Given the description of an element on the screen output the (x, y) to click on. 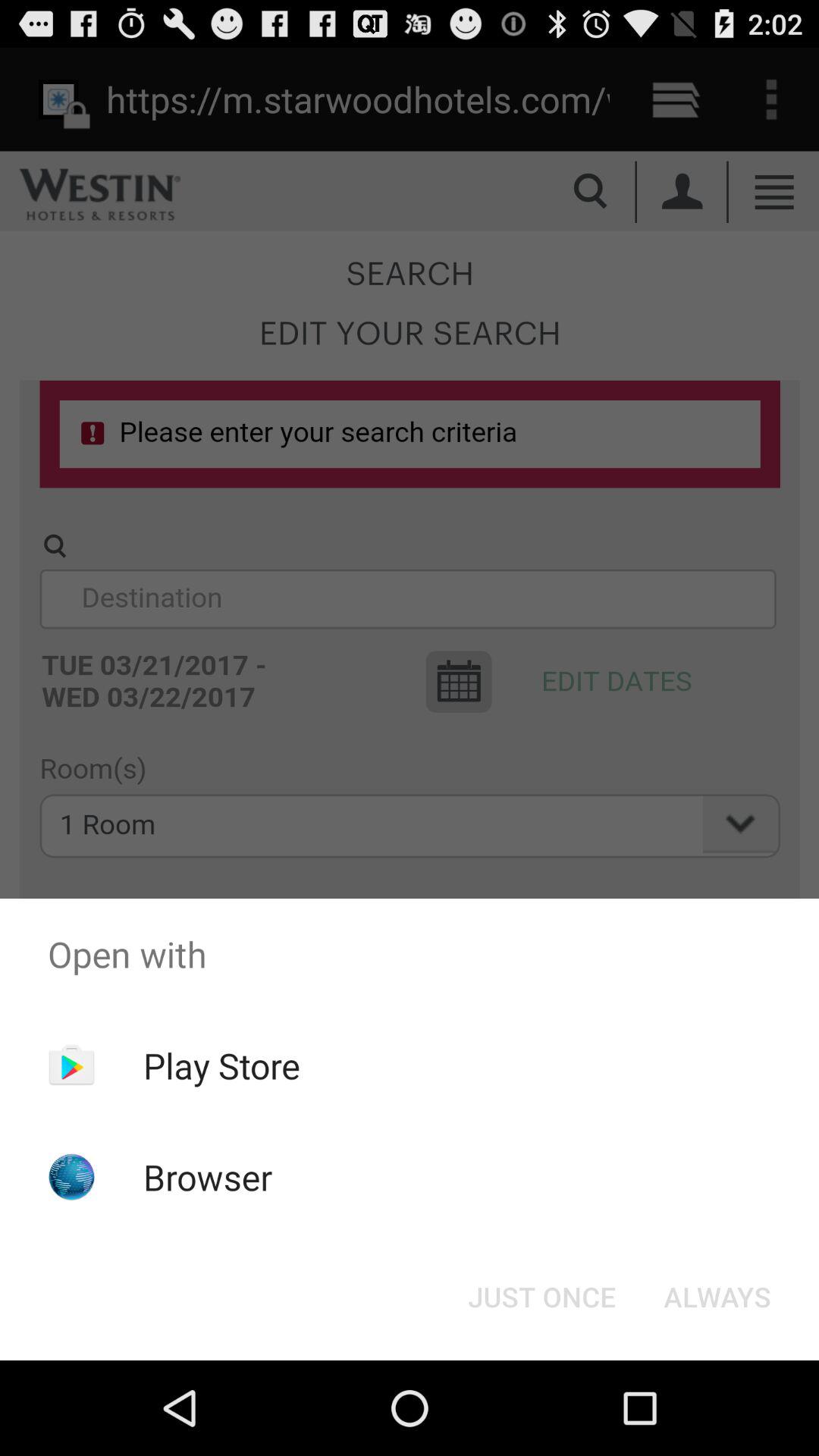
select icon next to the always item (541, 1296)
